Given the description of an element on the screen output the (x, y) to click on. 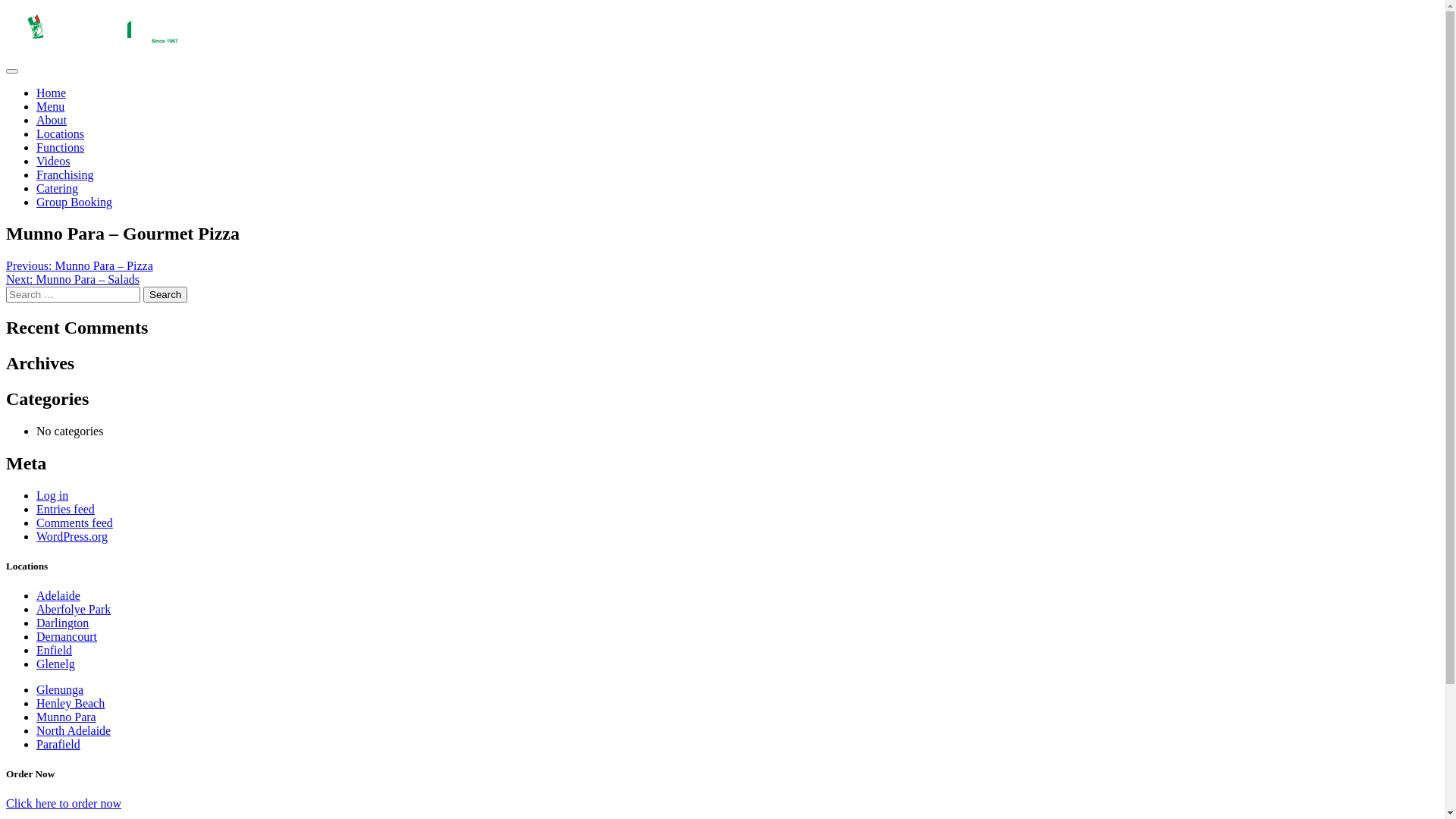
Log in Element type: text (52, 495)
Comments feed Element type: text (74, 522)
Glenunga Element type: text (59, 689)
Munno Para Element type: text (66, 716)
Functions Element type: text (60, 147)
Aberfolye Park Element type: text (73, 608)
WordPress.org Element type: text (71, 536)
Franchising Element type: text (65, 174)
Glenelg Element type: text (55, 663)
Adelaide Element type: text (58, 595)
Click here to order now Element type: text (63, 803)
Entries feed Element type: text (65, 508)
Catering Element type: text (57, 188)
Darlington Element type: text (62, 622)
Search Element type: text (165, 294)
Home Element type: text (50, 92)
Group Booking Element type: text (74, 201)
Videos Element type: text (52, 160)
Dernancourt Element type: text (66, 636)
About Element type: text (51, 119)
Home Element type: hover (103, 42)
Locations Element type: text (60, 133)
Enfield Element type: text (54, 649)
Henley Beach Element type: text (70, 702)
Parafield Element type: text (58, 743)
Menu Element type: text (50, 106)
Marcellina, Adelaide's oldest pizzeria Element type: hover (103, 28)
North Adelaide Element type: text (73, 730)
